Given the description of an element on the screen output the (x, y) to click on. 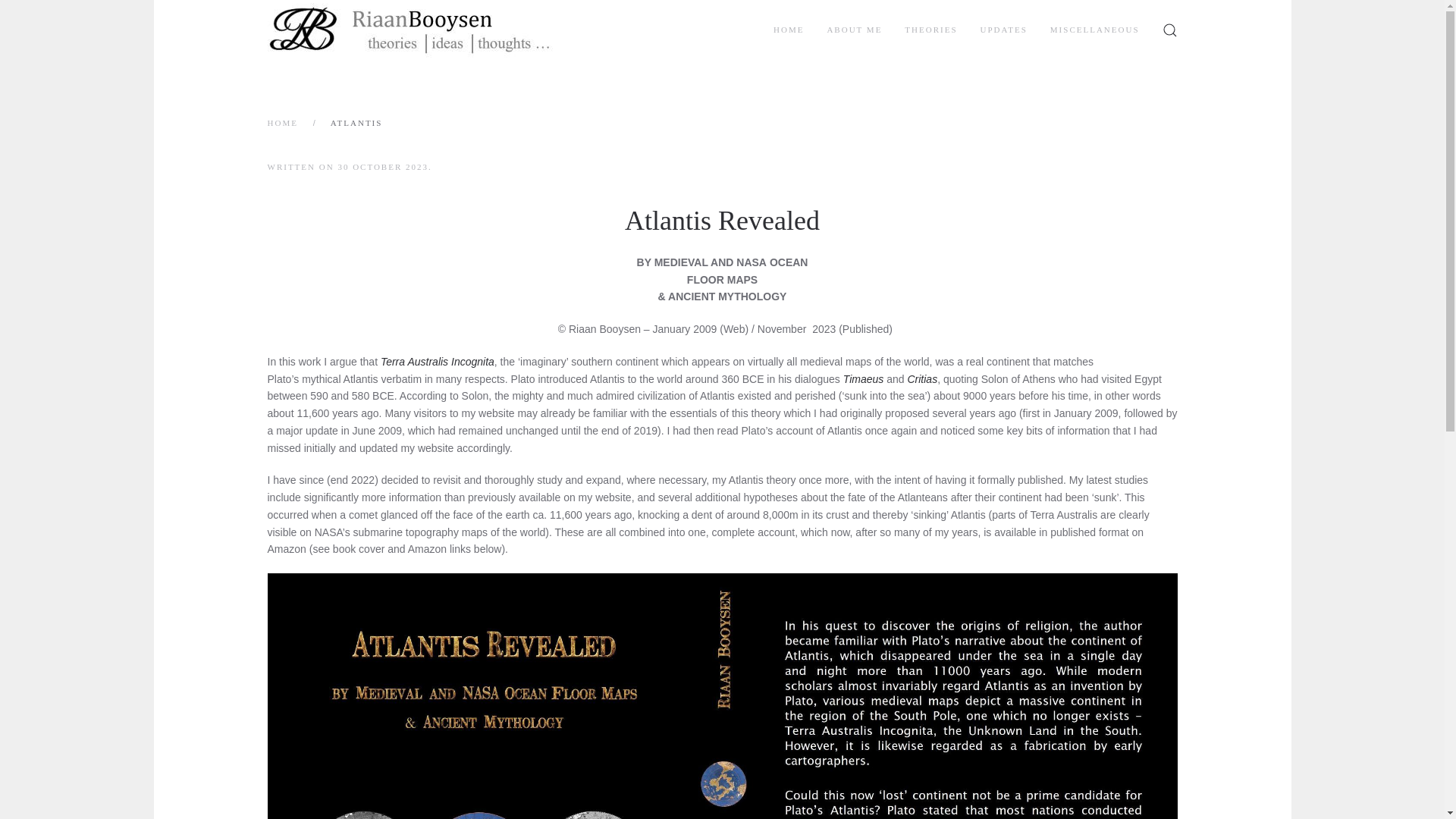
HOME (281, 122)
THEORIES (930, 30)
MISCELLANEOUS (1095, 30)
ABOUT ME (854, 30)
UPDATES (1004, 30)
